Given the description of an element on the screen output the (x, y) to click on. 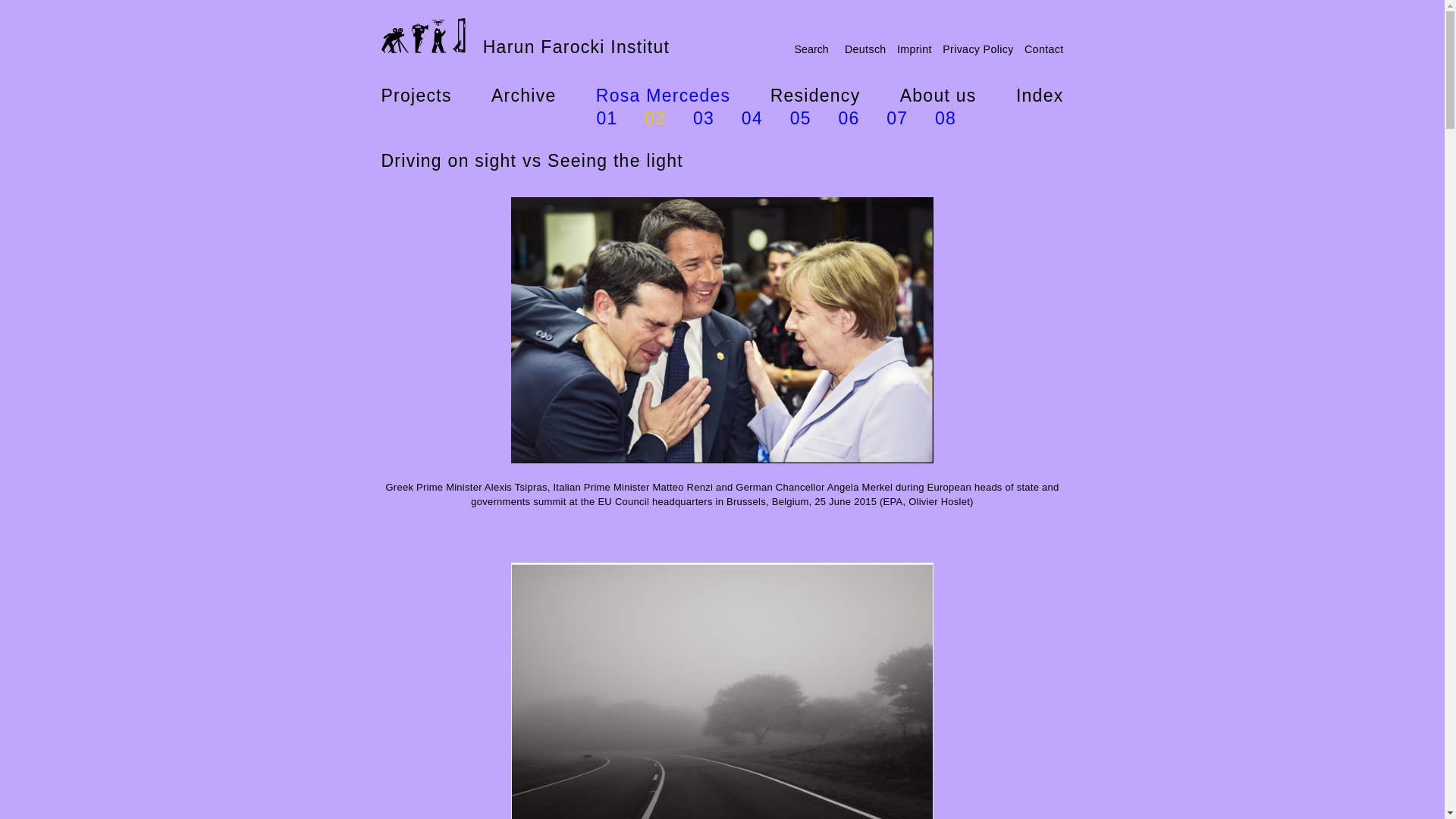
08 (945, 117)
Residency (815, 95)
Deutsch (865, 49)
02 (655, 117)
06 (848, 117)
About us (937, 95)
Index (1040, 95)
Archive (524, 95)
Projects (415, 95)
05 (800, 117)
01 (606, 117)
07 (896, 117)
Rosa Mercedes (662, 95)
Harun Farocki Institut (524, 38)
03 (703, 117)
